Given the description of an element on the screen output the (x, y) to click on. 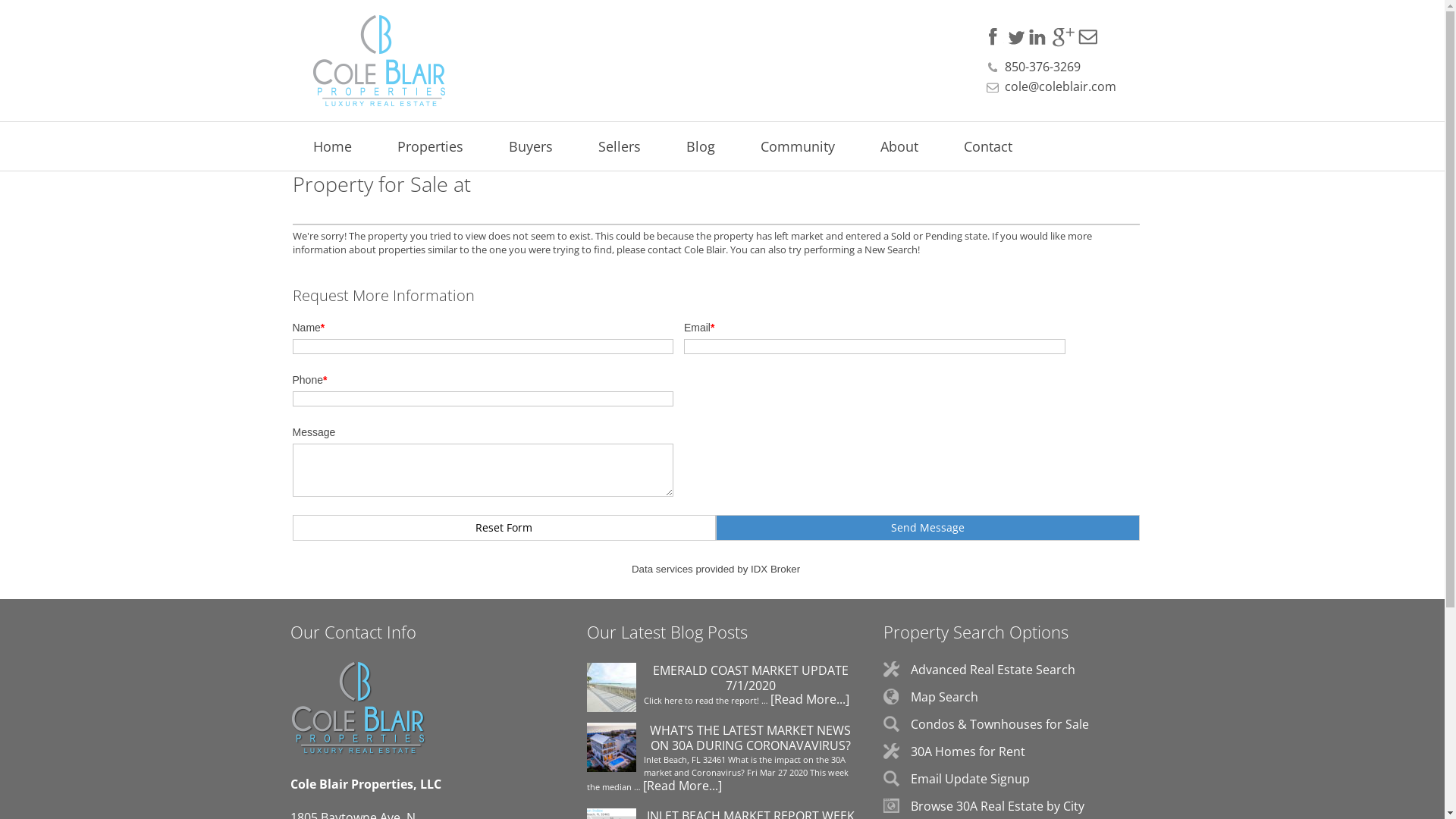
Send Message Element type: text (927, 527)
Home Element type: text (331, 146)
Cole Blair Element type: text (704, 249)
30A Homes for Rent Element type: text (967, 751)
cole@coleblair.com Element type: text (1059, 86)
EMERALD COAST MARKET UPDATE 7/1/2020 Element type: hover (611, 688)
IDX Broker Element type: text (775, 568)
Condos & Townhouses for Sale Element type: text (999, 723)
About Element type: text (898, 146)
Email Update Signup Element type: text (969, 778)
Blog Element type: text (699, 146)
30A Real Estate | Condos | 30A Florida Homes for Sale Element type: text (366, 60)
Properties Element type: text (430, 146)
Map Search Element type: text (944, 696)
Contact Element type: text (987, 146)
Browse 30A Real Estate by City Element type: text (997, 805)
EMERALD COAST MARKET UPDATE 7/1/2020 Element type: text (721, 677)
Community Element type: text (796, 146)
Sellers Element type: text (618, 146)
Reset Form Element type: text (504, 527)
Advanced Real Estate Search Element type: text (992, 669)
[Read More...] Element type: text (682, 785)
Buyers Element type: text (529, 146)
New Search Element type: text (890, 249)
[Read More...] Element type: text (809, 698)
